Given the description of an element on the screen output the (x, y) to click on. 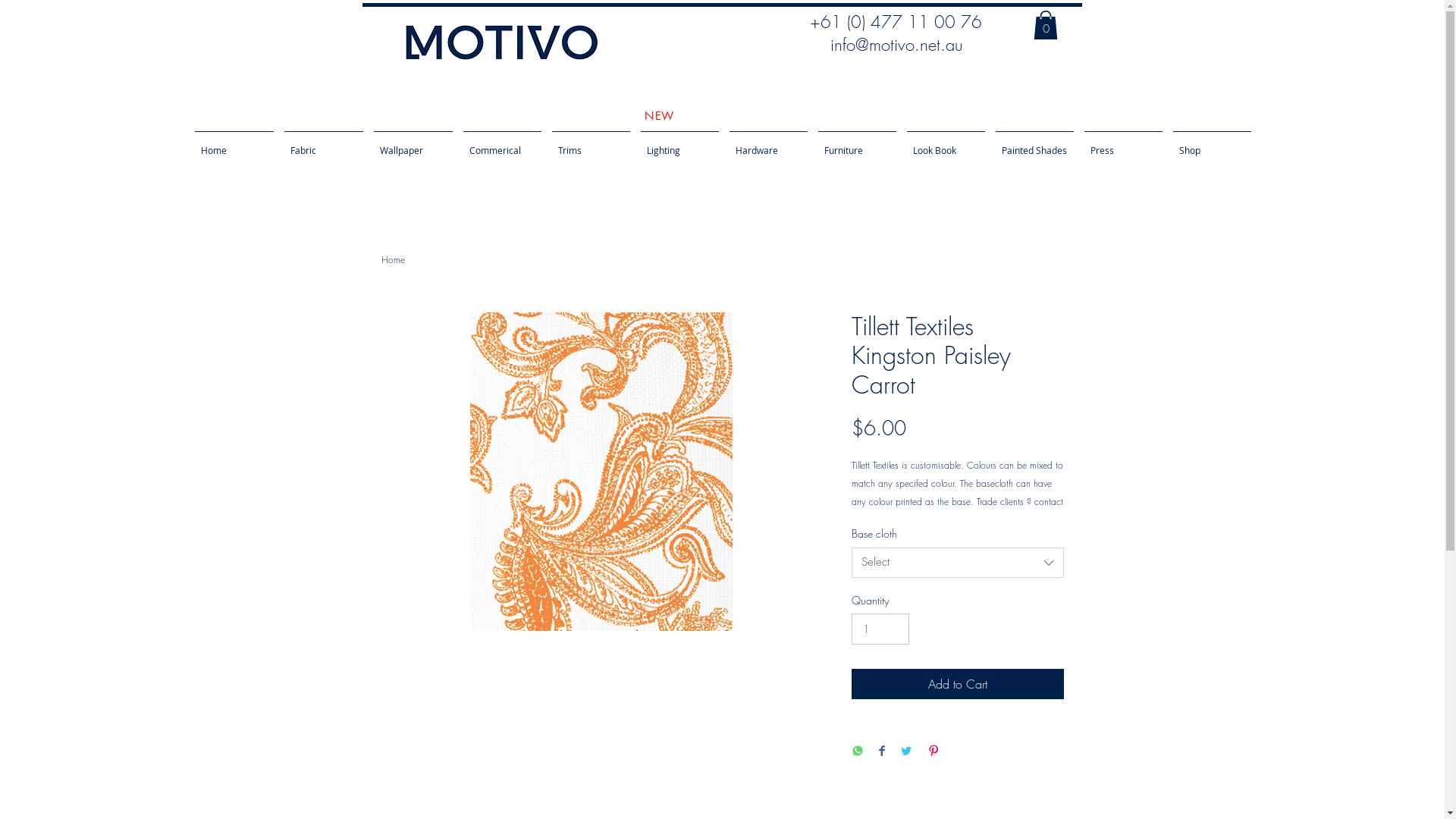
Fabric Element type: text (323, 143)
Lighting Element type: text (679, 143)
0 Element type: text (1044, 24)
Home Element type: text (392, 259)
Select Element type: text (956, 562)
Add to Cart Element type: text (956, 683)
Hardware Element type: text (767, 143)
Painted Shades Element type: text (1034, 143)
Trims Element type: text (590, 143)
Furniture Element type: text (856, 143)
info@motivo.net.au Element type: text (895, 44)
Commerical Element type: text (502, 143)
Wallpaper Element type: text (413, 143)
Look Book Element type: text (944, 143)
Press Element type: text (1122, 143)
Shop Element type: text (1211, 143)
Home Element type: text (234, 143)
